Given the description of an element on the screen output the (x, y) to click on. 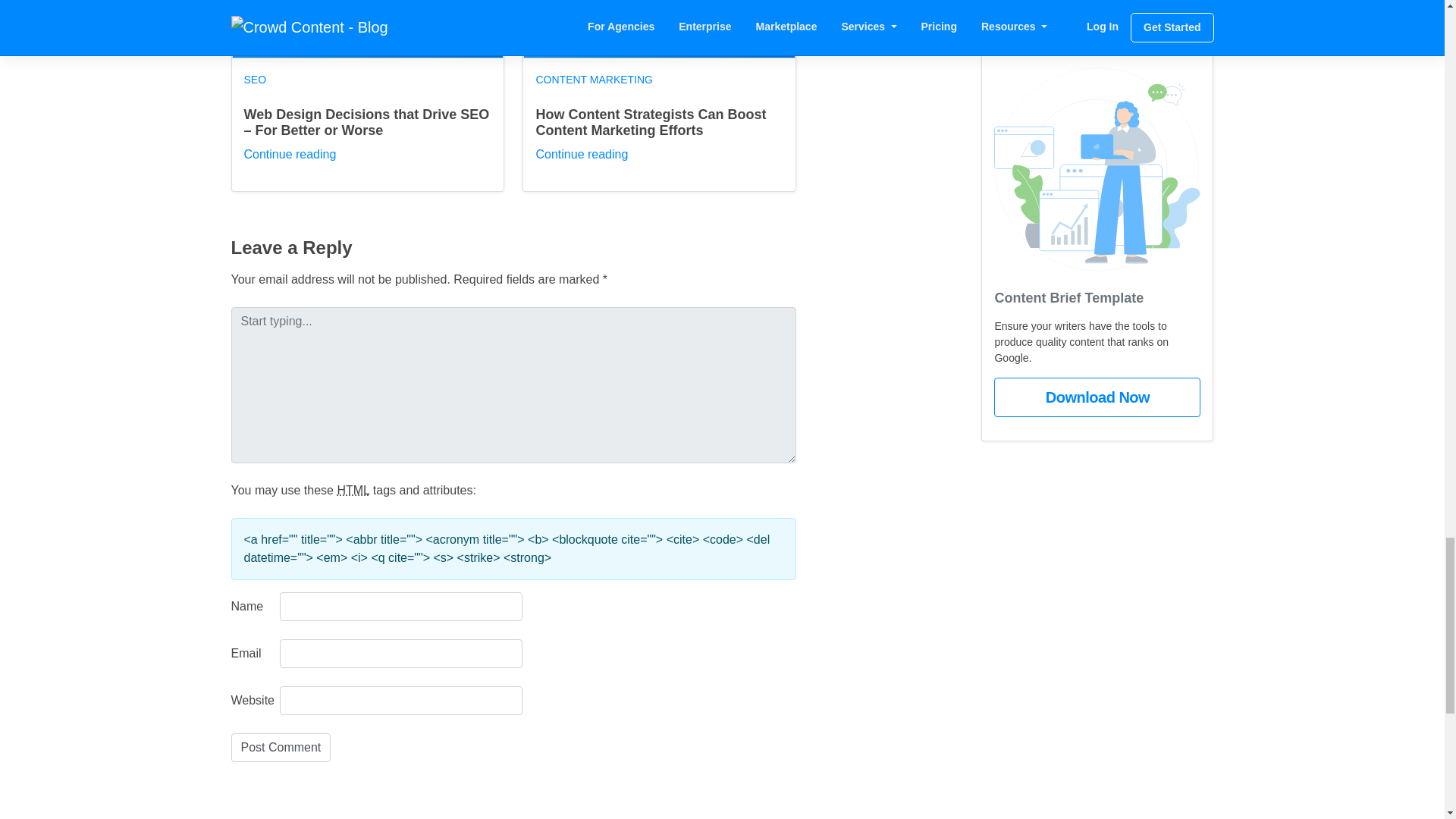
Post Comment (280, 747)
Continue reading (290, 154)
SEO (255, 78)
